Given the description of an element on the screen output the (x, y) to click on. 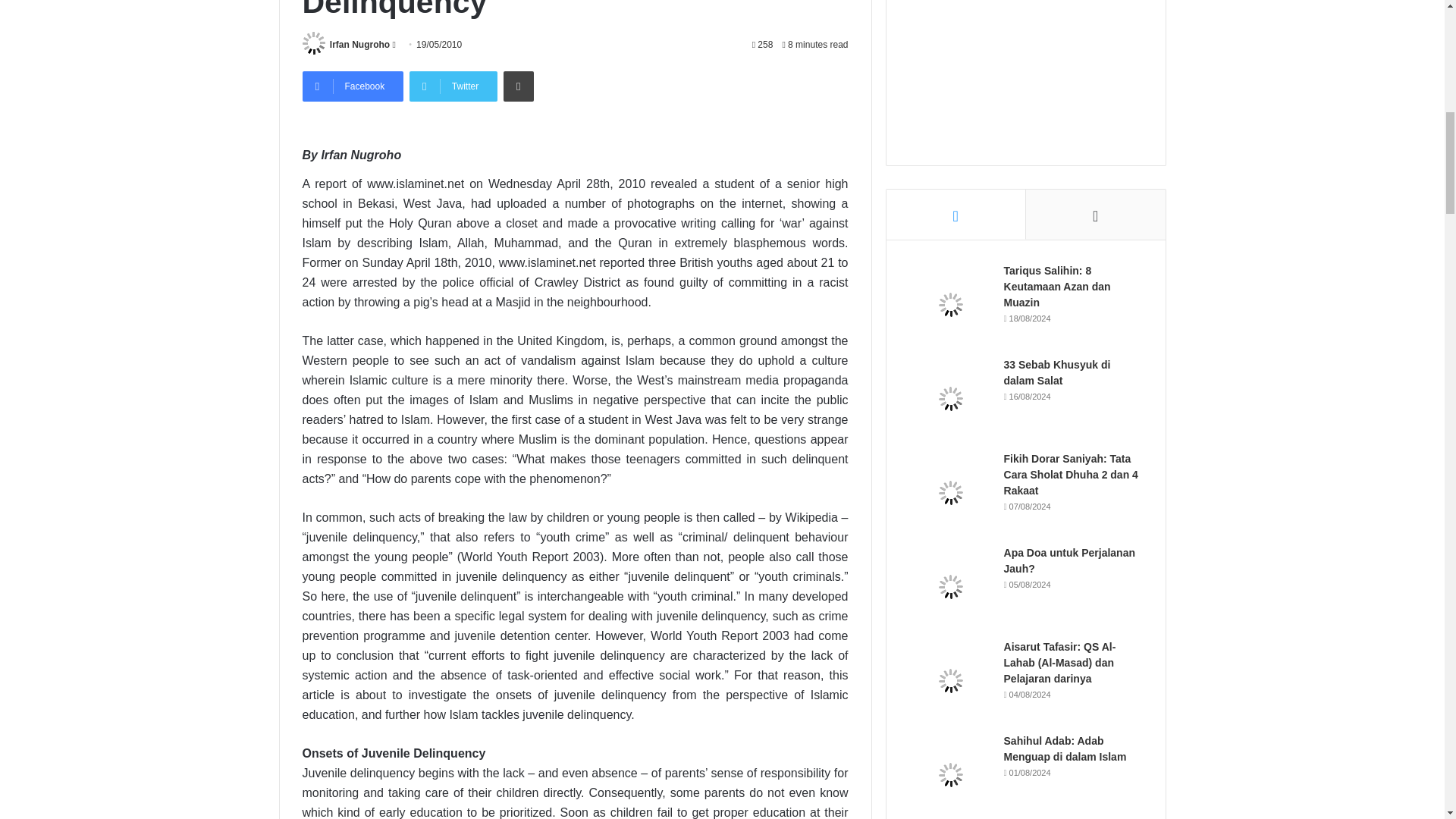
Irfan Nugroho (360, 44)
Facebook (352, 86)
Irfan Nugroho (360, 44)
Print (518, 86)
Twitter (453, 86)
Facebook (352, 86)
Twitter (453, 86)
Print (518, 86)
